Given the description of an element on the screen output the (x, y) to click on. 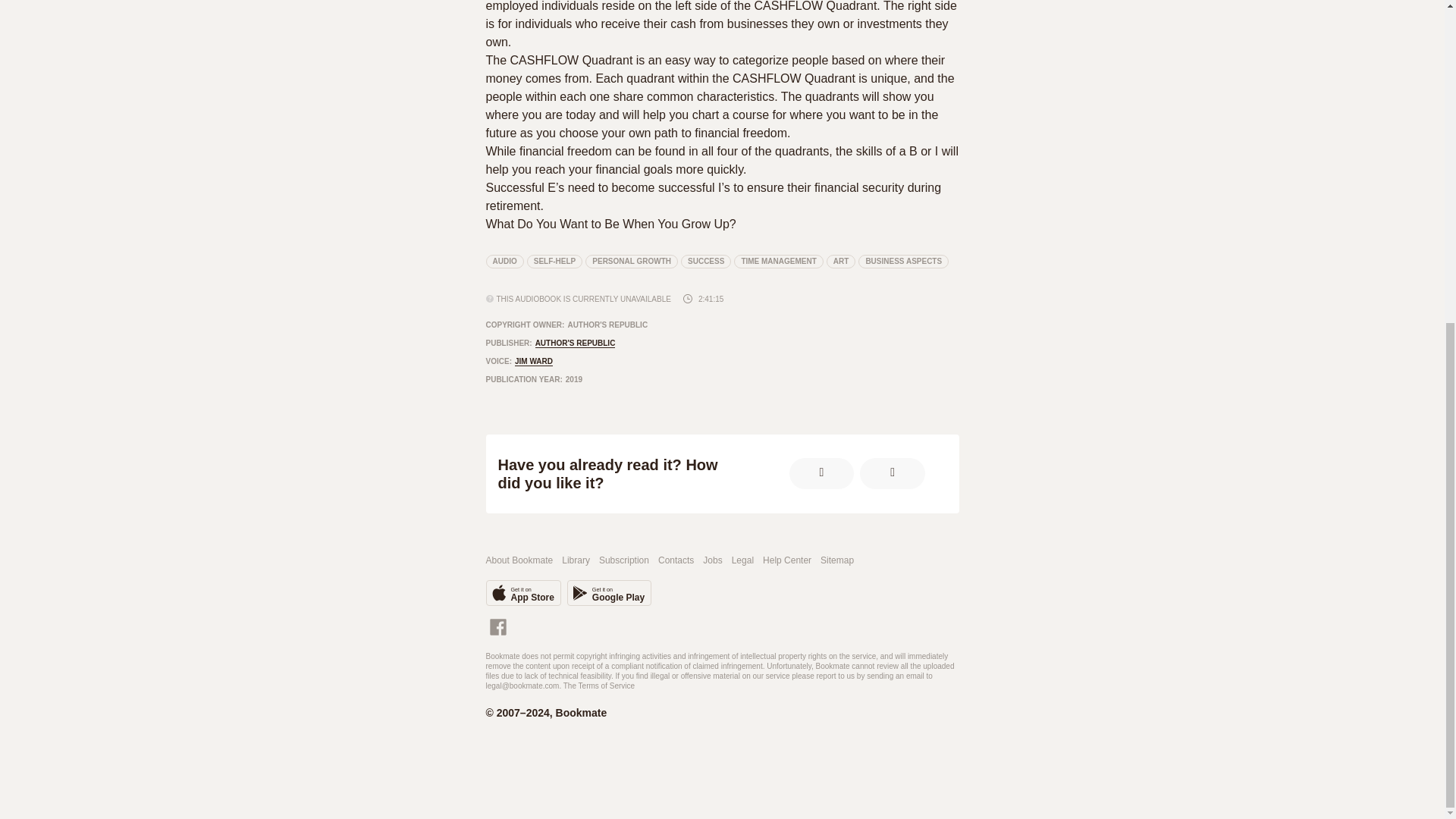
Legal (743, 560)
ART (841, 261)
Library (575, 560)
TIME MANAGEMENT (777, 261)
SELF-HELP (555, 261)
The Terms of Service (598, 685)
AUTHOR'S REPUBLIC (575, 343)
Jobs (712, 560)
Contacts (676, 560)
